Given the description of an element on the screen output the (x, y) to click on. 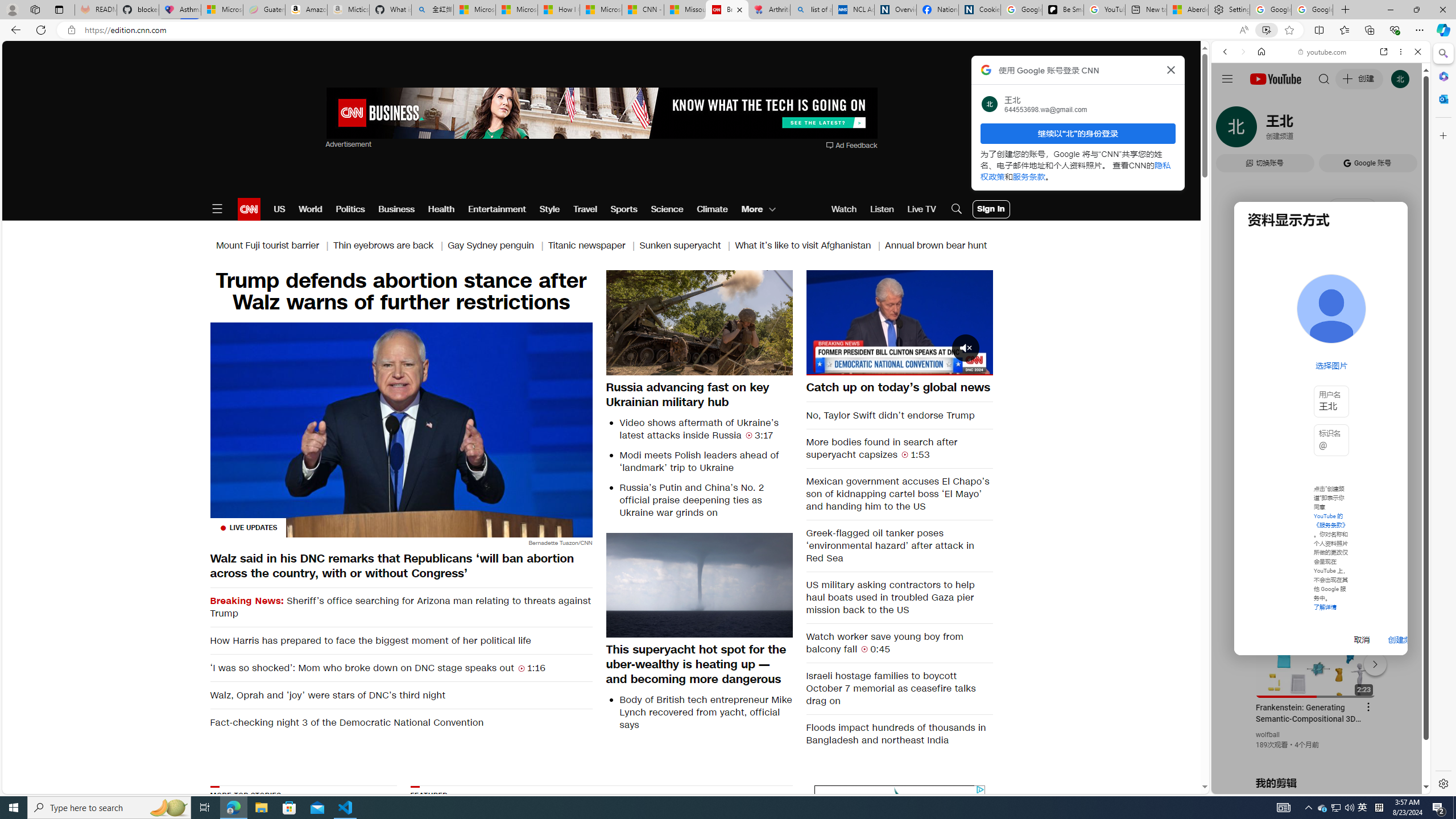
AutomationID: aw0 (600, 113)
Class: Bz112c Bz112c-r9oPif (1170, 69)
Breaking News, Latest News and Videos | CNN (726, 9)
AutomationID: brandFlyLogo (899, 794)
User Account Log In Button (991, 208)
